Given the description of an element on the screen output the (x, y) to click on. 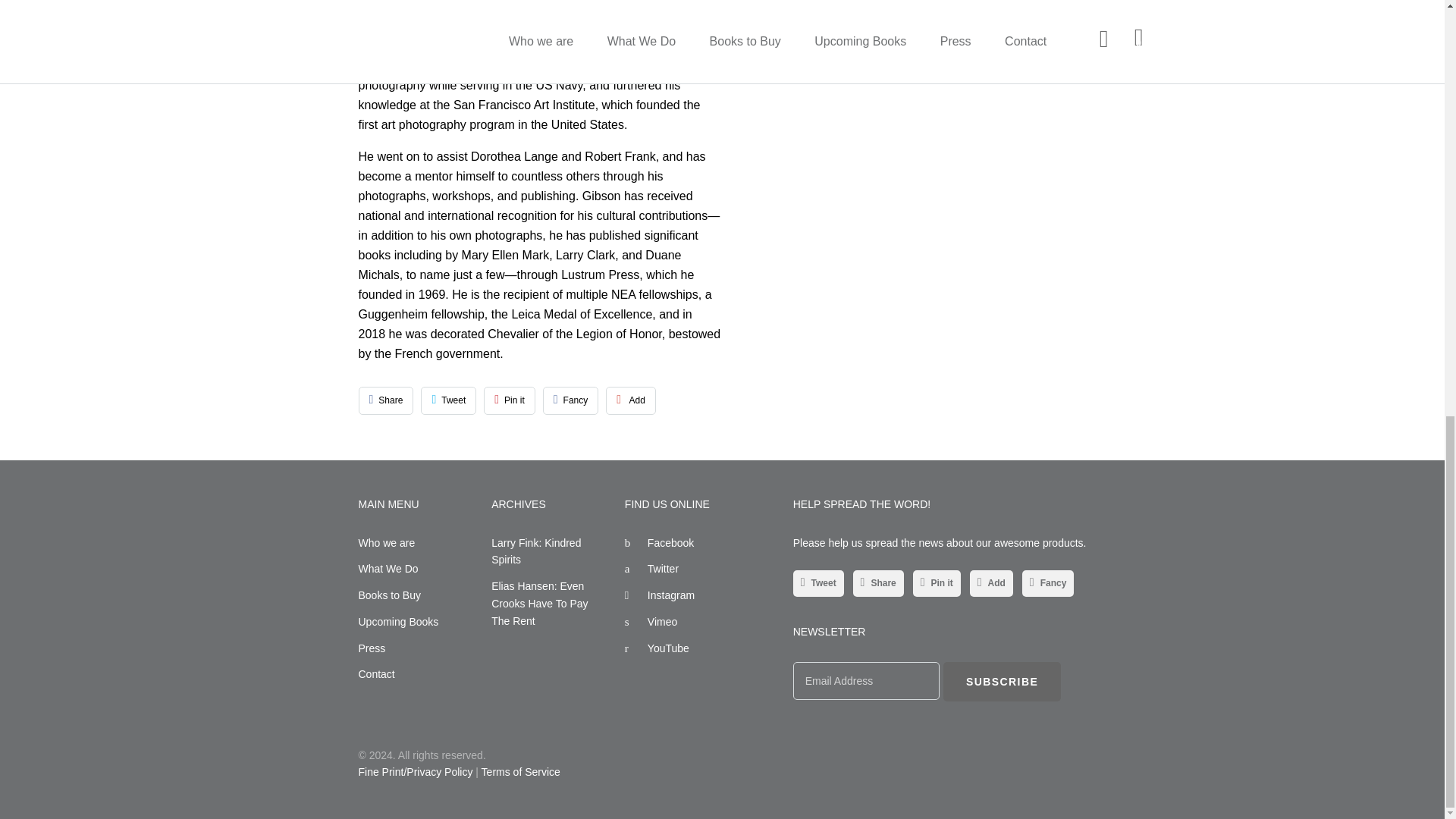
Who we are (386, 542)
Share (385, 400)
Upcoming Books (398, 621)
Press (371, 647)
Pin it (509, 400)
Fancy (570, 400)
Add (630, 400)
Subscribe (1002, 680)
Tweet (448, 400)
What We Do (387, 568)
Books to Buy (389, 594)
